Given the description of an element on the screen output the (x, y) to click on. 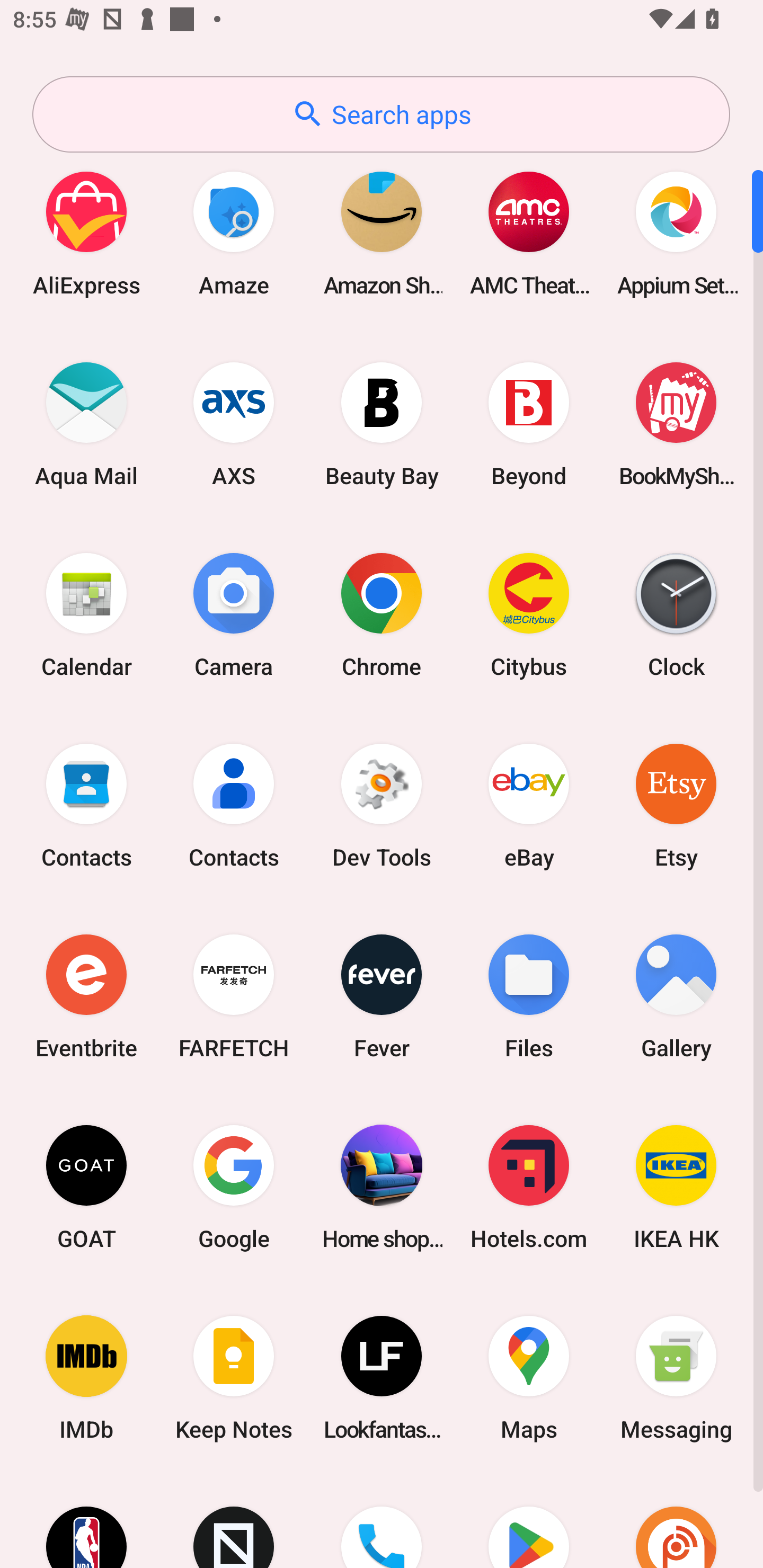
  Search apps (381, 114)
AliExpress (86, 233)
Amaze (233, 233)
Amazon Shopping (381, 233)
AMC Theatres (528, 233)
Appium Settings (676, 233)
Aqua Mail (86, 424)
AXS (233, 424)
Beauty Bay (381, 424)
Beyond (528, 424)
BookMyShow (676, 424)
Calendar (86, 614)
Camera (233, 614)
Chrome (381, 614)
Citybus (528, 614)
Clock (676, 614)
Contacts (86, 805)
Contacts (233, 805)
Dev Tools (381, 805)
eBay (528, 805)
Etsy (676, 805)
Eventbrite (86, 996)
FARFETCH (233, 996)
Fever (381, 996)
Files (528, 996)
Gallery (676, 996)
GOAT (86, 1186)
Google (233, 1186)
Home shopping (381, 1186)
Hotels.com (528, 1186)
IKEA HK (676, 1186)
IMDb (86, 1377)
Keep Notes (233, 1377)
Lookfantastic (381, 1377)
Maps (528, 1377)
Messaging (676, 1377)
NBA (86, 1520)
Novelship (233, 1520)
Phone (381, 1520)
Play Store (528, 1520)
Podcast Addict (676, 1520)
